Given the description of an element on the screen output the (x, y) to click on. 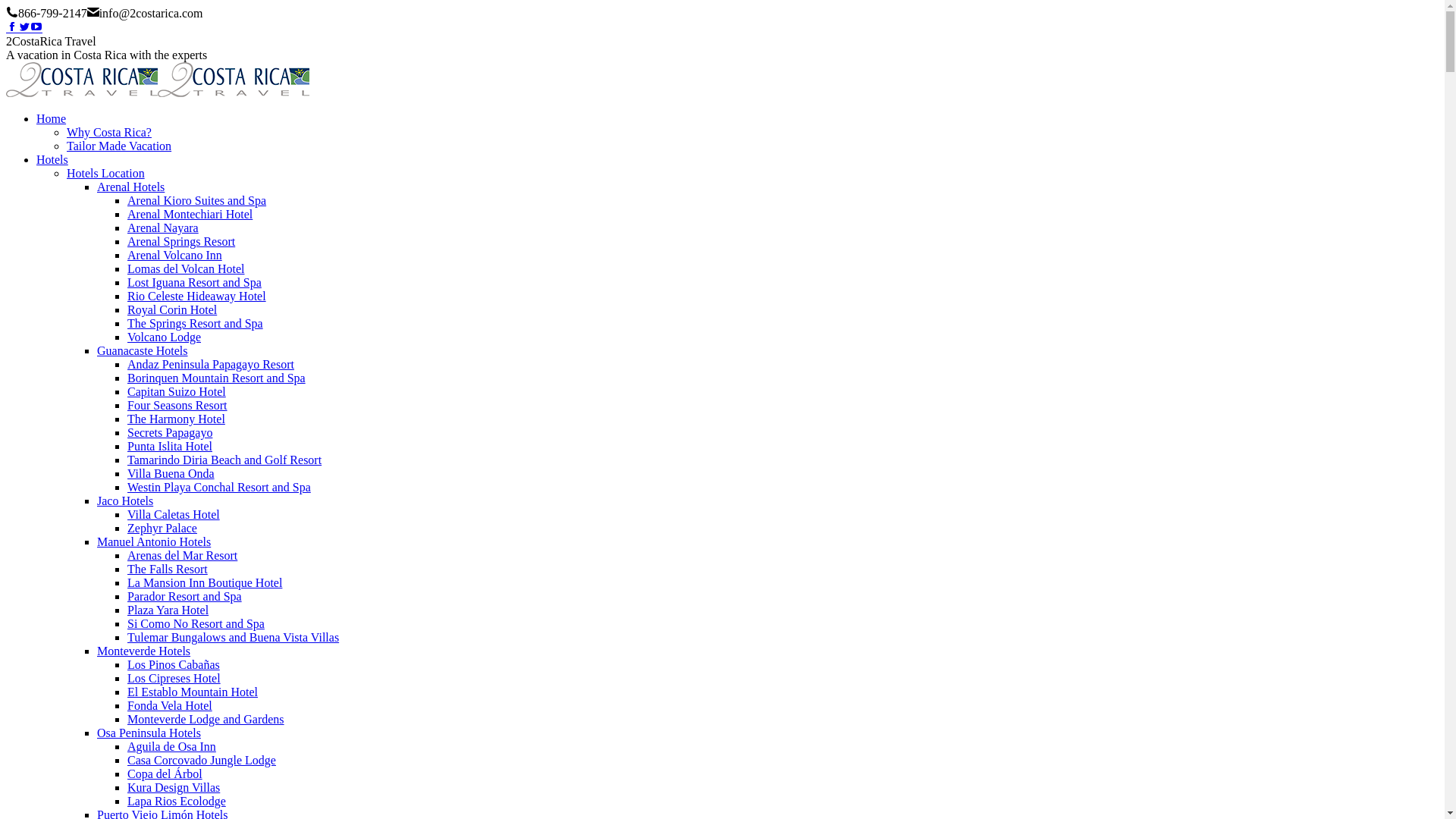
Arenal Volcano Inn Element type: text (174, 254)
Aguila de Osa Inn Element type: text (171, 746)
Jaco Hotels Element type: text (125, 500)
La Mansion Inn Boutique Hotel Element type: text (204, 582)
Why Costa Rica? Element type: text (108, 131)
Capitan Suizo Hotel Element type: text (176, 391)
Skip to content Element type: text (5, 5)
Los Cipreses Hotel Element type: text (173, 677)
The Springs Resort and Spa Element type: text (195, 322)
Secrets Papagayo Element type: text (169, 432)
Borinquen Mountain Resort and Spa Element type: text (216, 377)
Osa Peninsula Hotels Element type: text (148, 732)
Royal Corin Hotel Element type: text (171, 309)
Volcano Lodge Element type: text (163, 336)
Tulemar Bungalows and Buena Vista Villas Element type: text (232, 636)
Hotels Element type: text (52, 159)
Lapa Rios Ecolodge Element type: text (176, 800)
The Harmony Hotel Element type: text (176, 418)
Lomas del Volcan Hotel Element type: text (185, 268)
YouTube page opens in new window Element type: text (36, 27)
Hotels Location Element type: text (105, 172)
The Falls Resort Element type: text (167, 568)
Twitter page opens in new window Element type: text (24, 27)
Andaz Peninsula Papagayo Resort Element type: text (210, 363)
Punta Islita Hotel Element type: text (169, 445)
Zephyr Palace Element type: text (162, 527)
Casa Corcovado Jungle Lodge Element type: text (201, 759)
Arenal Kioro Suites and Spa Element type: text (196, 200)
Rio Celeste Hideaway Hotel Element type: text (196, 295)
Arenas del Mar Resort Element type: text (182, 555)
Guanacaste Hotels Element type: text (142, 350)
Monteverde Hotels Element type: text (143, 650)
Manuel Antonio Hotels Element type: text (153, 541)
Tamarindo Diria Beach and Golf Resort Element type: text (224, 459)
Arenal Springs Resort Element type: text (181, 241)
El Establo Mountain Hotel Element type: text (192, 691)
Four Seasons Resort Element type: text (177, 404)
Lost Iguana Resort and Spa Element type: text (194, 282)
Parador Resort and Spa Element type: text (184, 595)
Arenal Hotels Element type: text (130, 186)
Arenal Montechiari Hotel Element type: text (189, 213)
Monteverde Lodge and Gardens Element type: text (205, 718)
Villa Caletas Hotel Element type: text (173, 514)
Arenal Nayara Element type: text (162, 227)
Kura Design Villas Element type: text (173, 787)
Home Element type: text (50, 118)
Villa Buena Onda Element type: text (170, 473)
Si Como No Resort and Spa Element type: text (195, 623)
Plaza Yara Hotel Element type: text (167, 609)
Fonda Vela Hotel Element type: text (169, 705)
Facebook page opens in new window Element type: text (12, 27)
Westin Playa Conchal Resort and Spa Element type: text (218, 486)
Tailor Made Vacation Element type: text (118, 145)
